Given the description of an element on the screen output the (x, y) to click on. 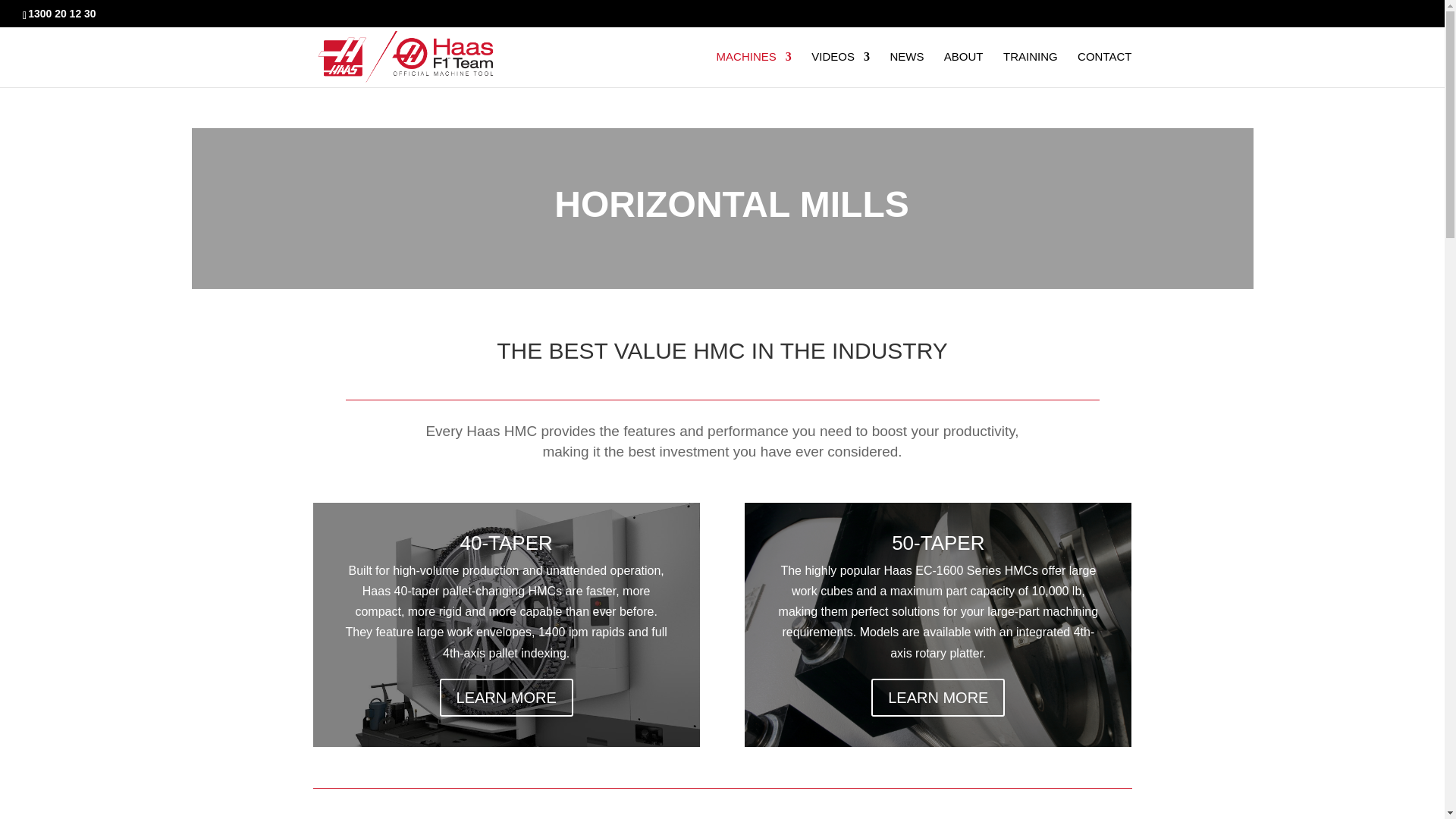
ABOUT (963, 68)
LEARN MORE (506, 697)
LEARN MORE (937, 697)
CONTACT (1104, 68)
VIDEOS (839, 68)
NEWS (906, 68)
TRAINING (1030, 68)
MACHINES (754, 68)
